Given the description of an element on the screen output the (x, y) to click on. 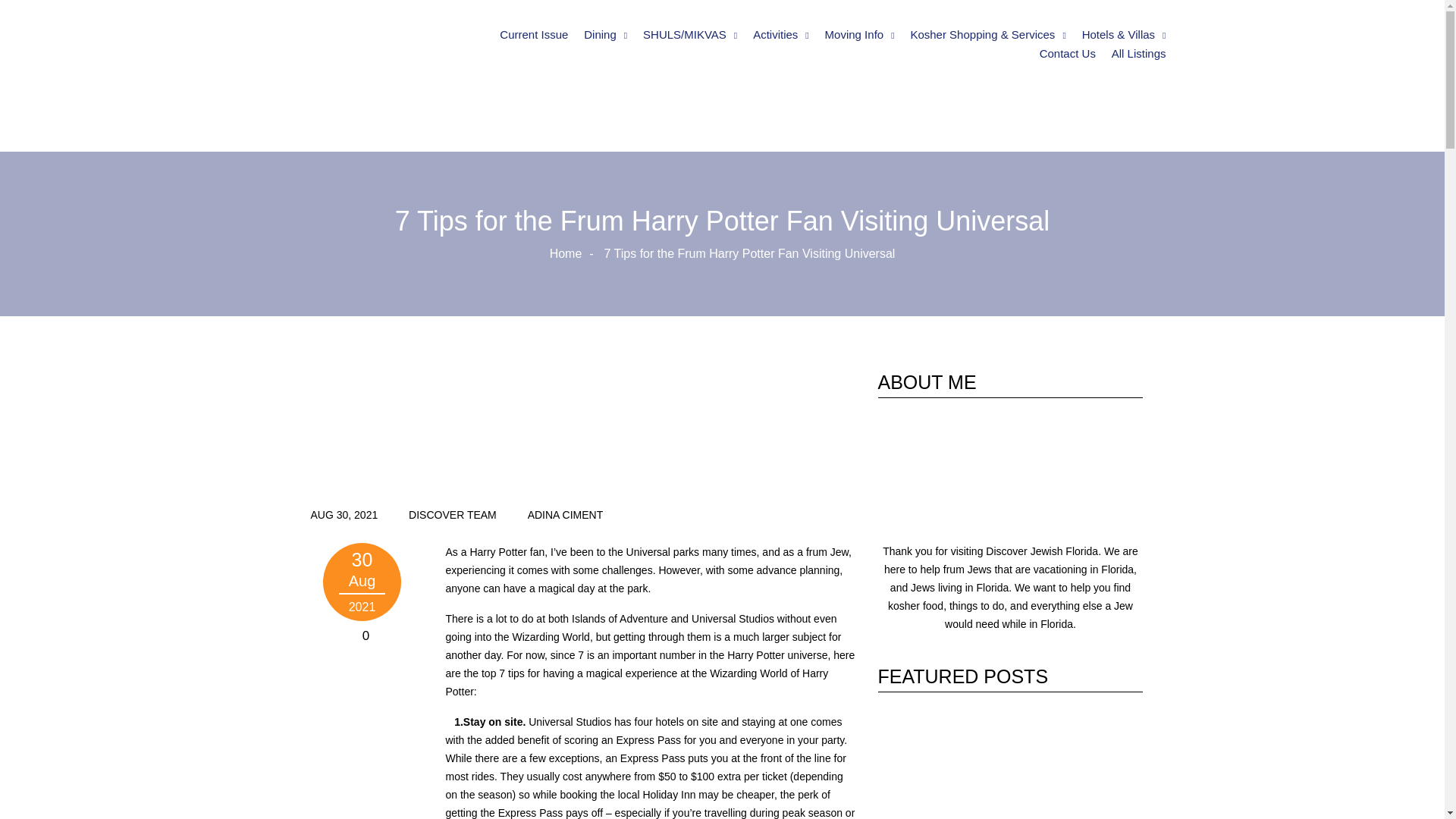
Dining (605, 35)
Aventura (911, 83)
Moving Info (860, 35)
Current Issue (533, 34)
Activities (780, 35)
Aventura (670, 83)
Aventura (839, 83)
Aventura (729, 83)
